Given the description of an element on the screen output the (x, y) to click on. 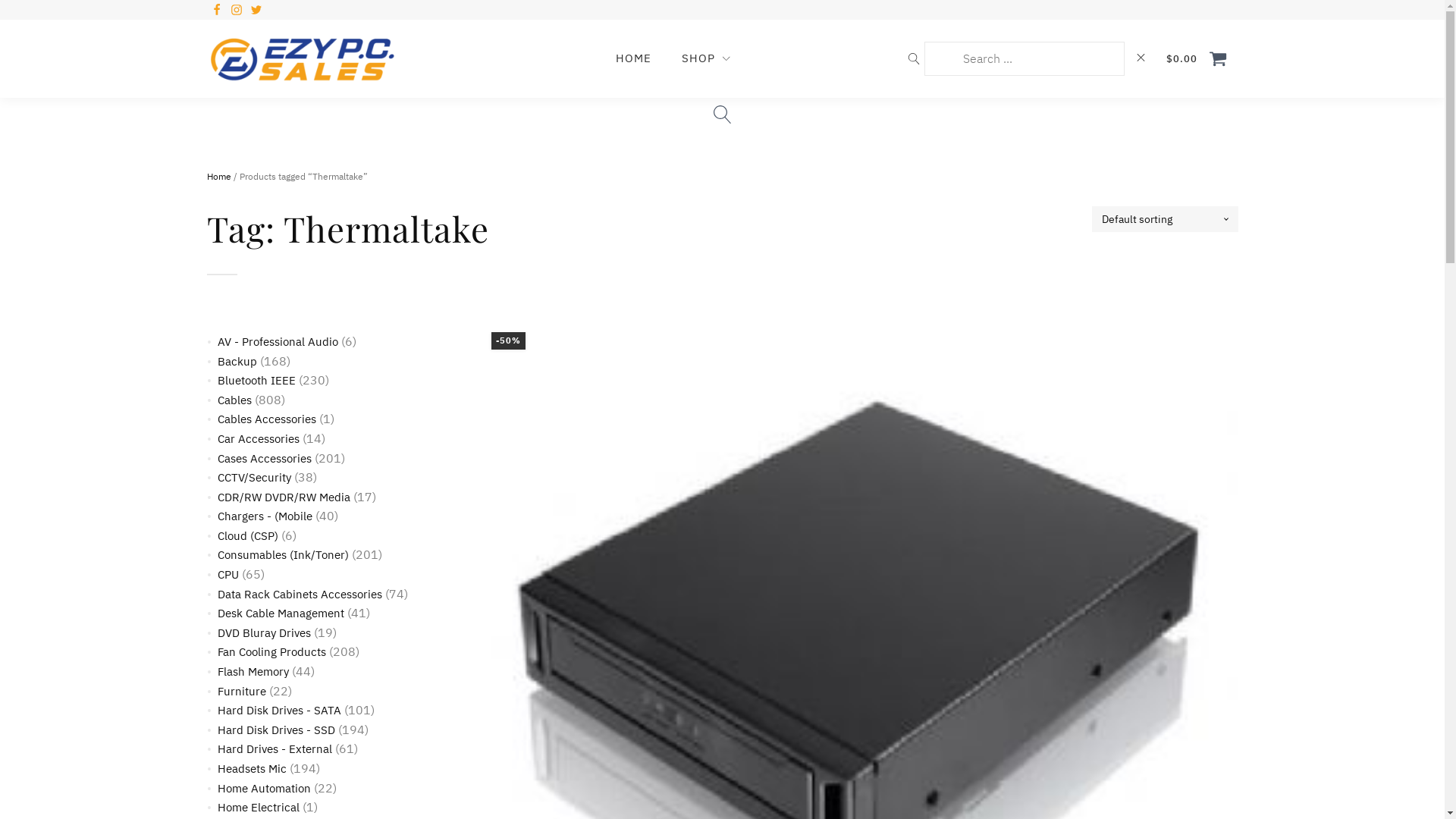
Fan Cooling Products Element type: text (270, 651)
CCTV/Security Element type: text (253, 477)
Home Automation Element type: text (263, 788)
HOME Element type: text (633, 58)
DVD Bluray Drives Element type: text (263, 632)
Car Accessories Element type: text (257, 438)
Cables Element type: text (233, 399)
Cables Accessories Element type: text (265, 418)
Home Electrical Element type: text (257, 807)
Backup Element type: text (236, 361)
Search Element type: text (24, 8)
Desk Cable Management Element type: text (279, 612)
CDR/RW DVDR/RW Media Element type: text (282, 496)
Consumables (Ink/Toner) Element type: text (282, 554)
Hard Disk Drives - SSD Element type: text (275, 729)
Bluetooth IEEE Element type: text (255, 380)
Flash Memory Element type: text (252, 671)
Home Element type: text (218, 175)
AV - Professional Audio Element type: text (276, 341)
Chargers - (Mobile Element type: text (263, 515)
Data Rack Cabinets Accessories Element type: text (298, 593)
Furniture Element type: text (240, 691)
Cases Accessories Element type: text (263, 458)
Search for: Element type: hover (1023, 58)
Headsets Mic Element type: text (250, 768)
Cloud (CSP) Element type: text (246, 535)
Hard Disk Drives - SATA Element type: text (278, 709)
CPU Element type: text (227, 574)
Hard Drives - External Element type: text (273, 748)
